Given the description of an element on the screen output the (x, y) to click on. 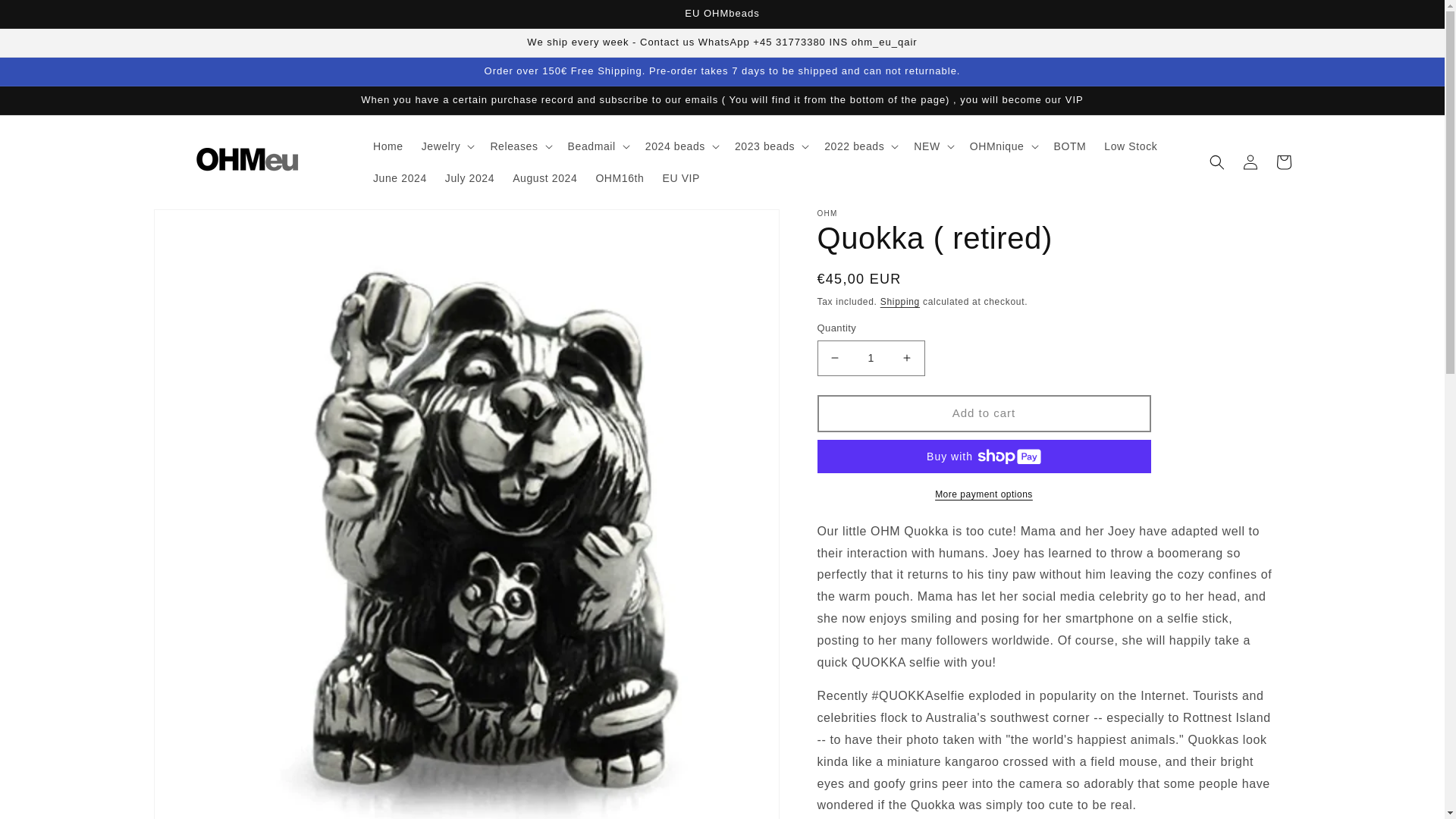
Skip to content (46, 18)
1 (870, 357)
